Given the description of an element on the screen output the (x, y) to click on. 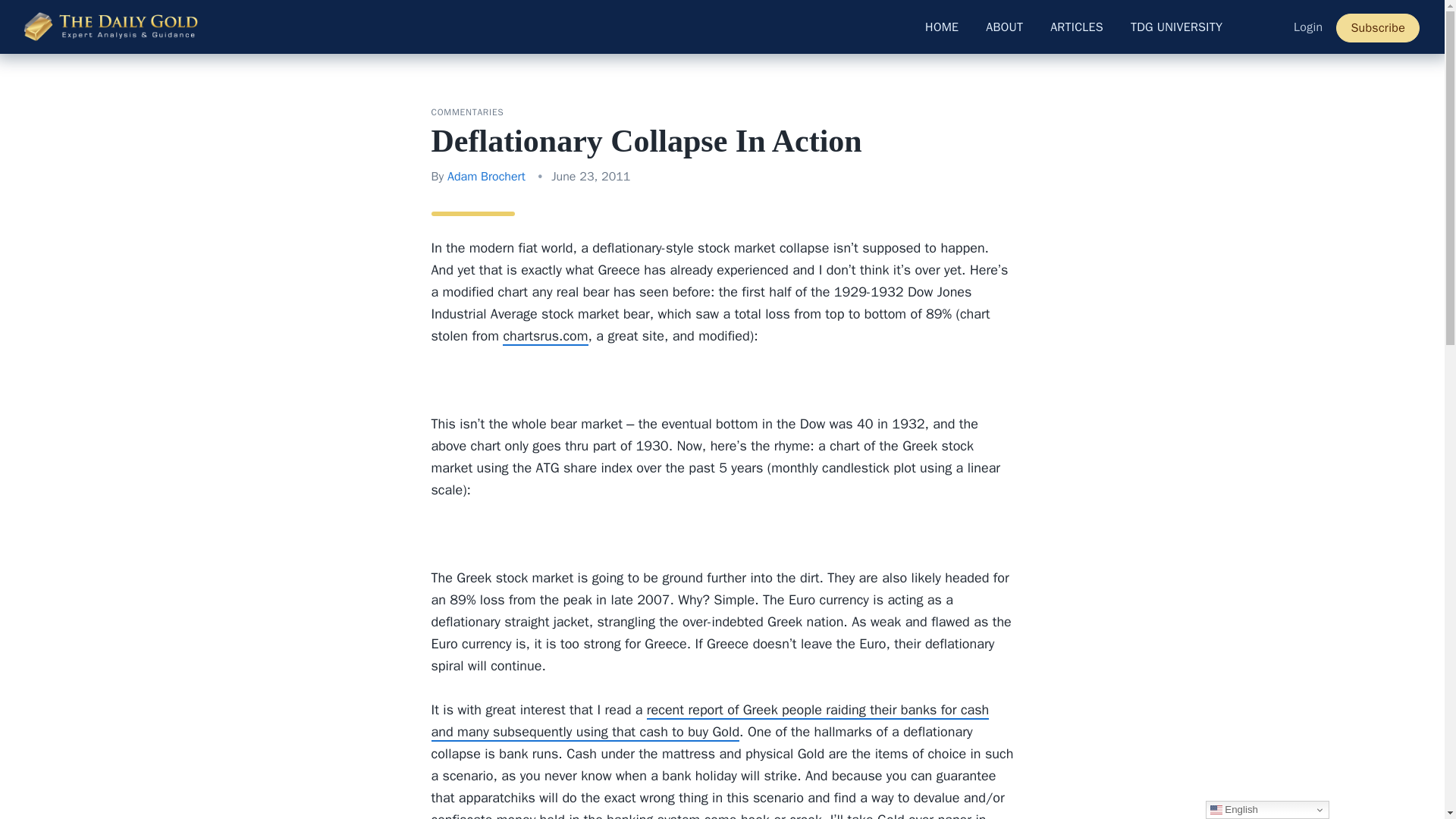
ARTICLES (1076, 26)
TDG UNIVERSITY (1176, 26)
HOME (941, 26)
English (1267, 809)
Login (1307, 26)
Subscribe (1377, 27)
Adam Brochert (485, 176)
ABOUT (1004, 26)
chartsrus.com (545, 336)
COMMENTARIES (466, 111)
